Given the description of an element on the screen output the (x, y) to click on. 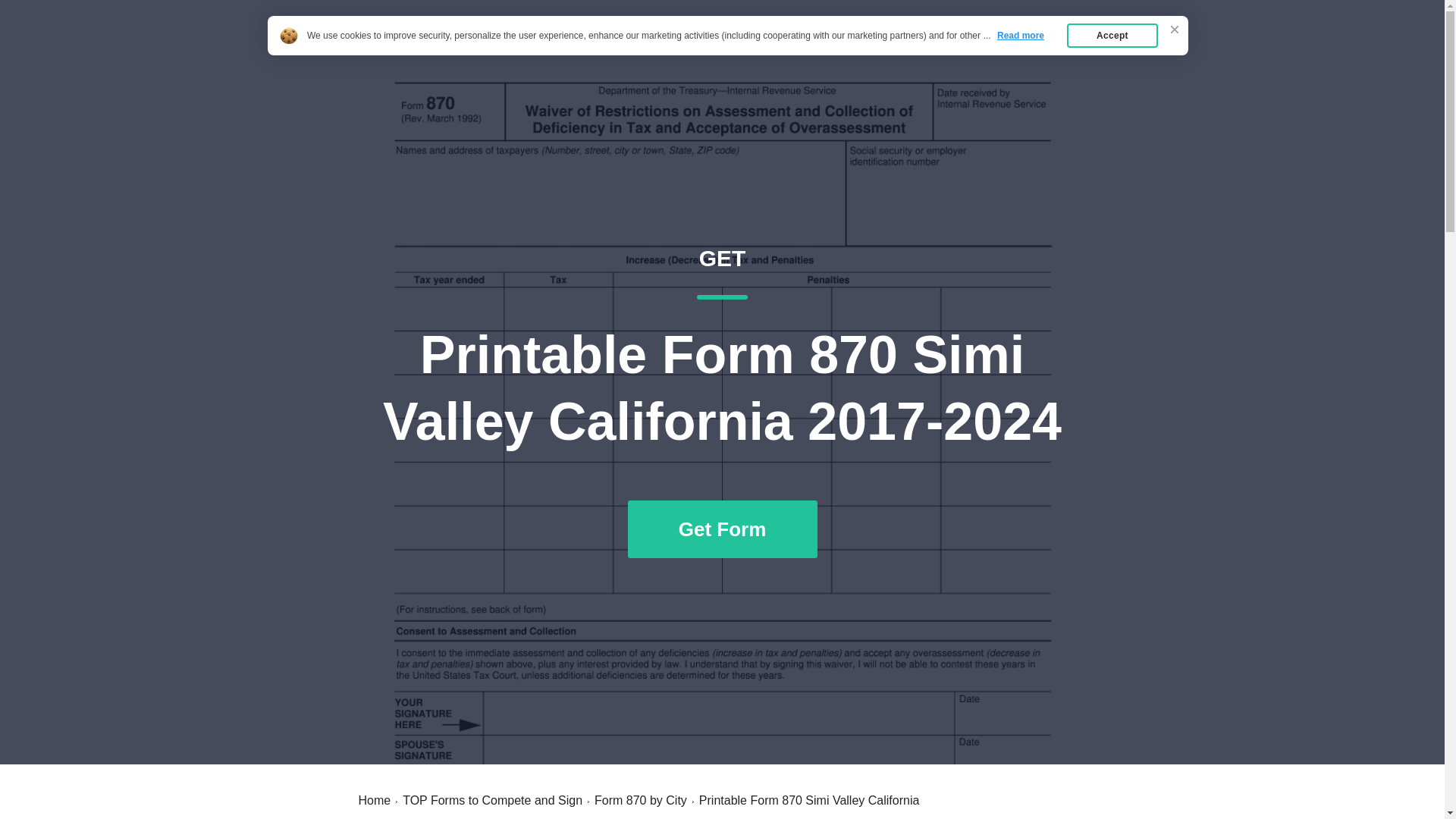
Form 870 by City (640, 800)
Home (987, 47)
Form 870 (391, 46)
Home (374, 800)
TOP Forms to Compete and Sign (492, 800)
Top Forms (1062, 47)
